Given the description of an element on the screen output the (x, y) to click on. 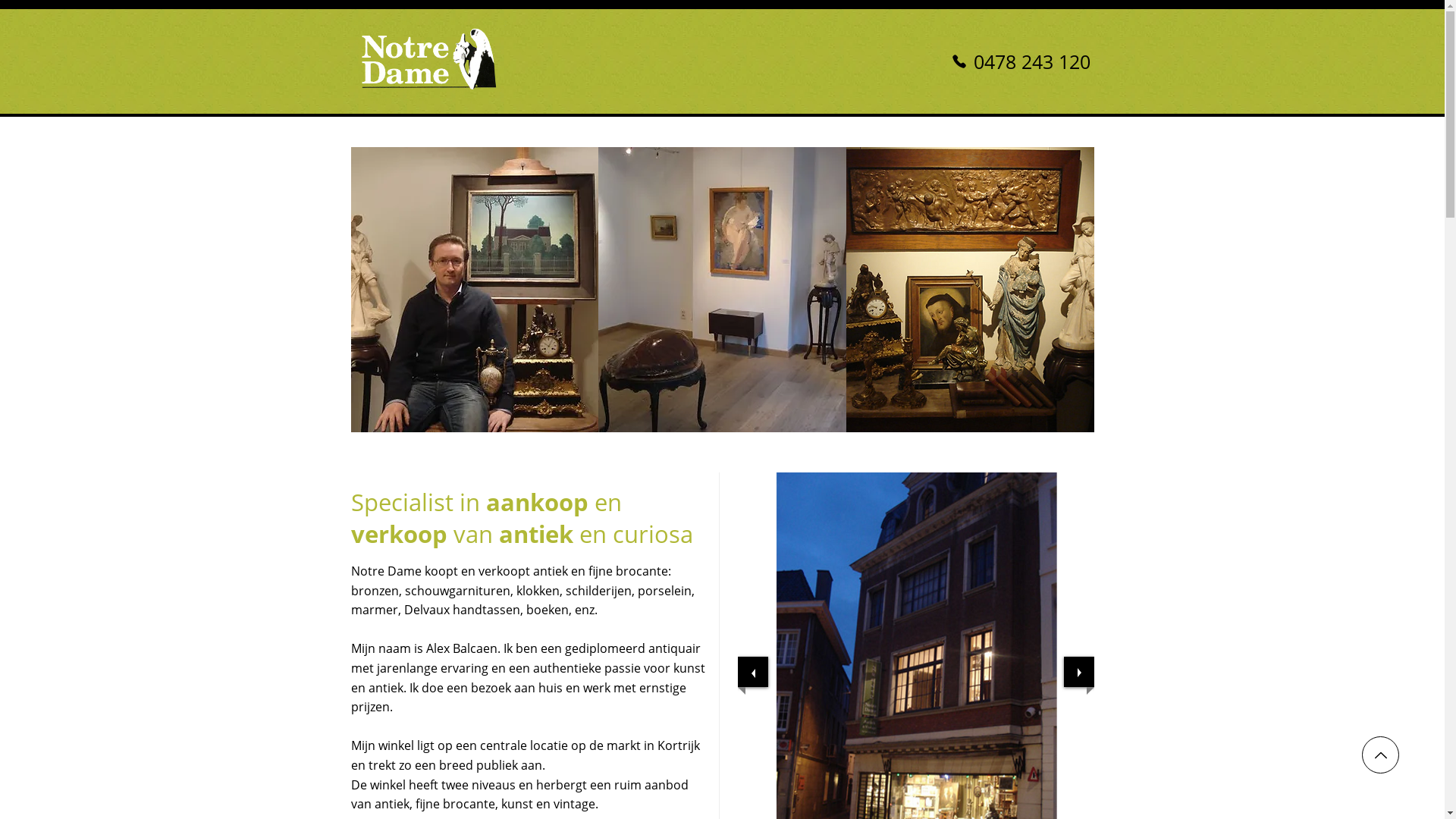
Antiek Notre Dame Element type: hover (428, 60)
0478 243 120 Element type: text (1019, 61)
